Given the description of an element on the screen output the (x, y) to click on. 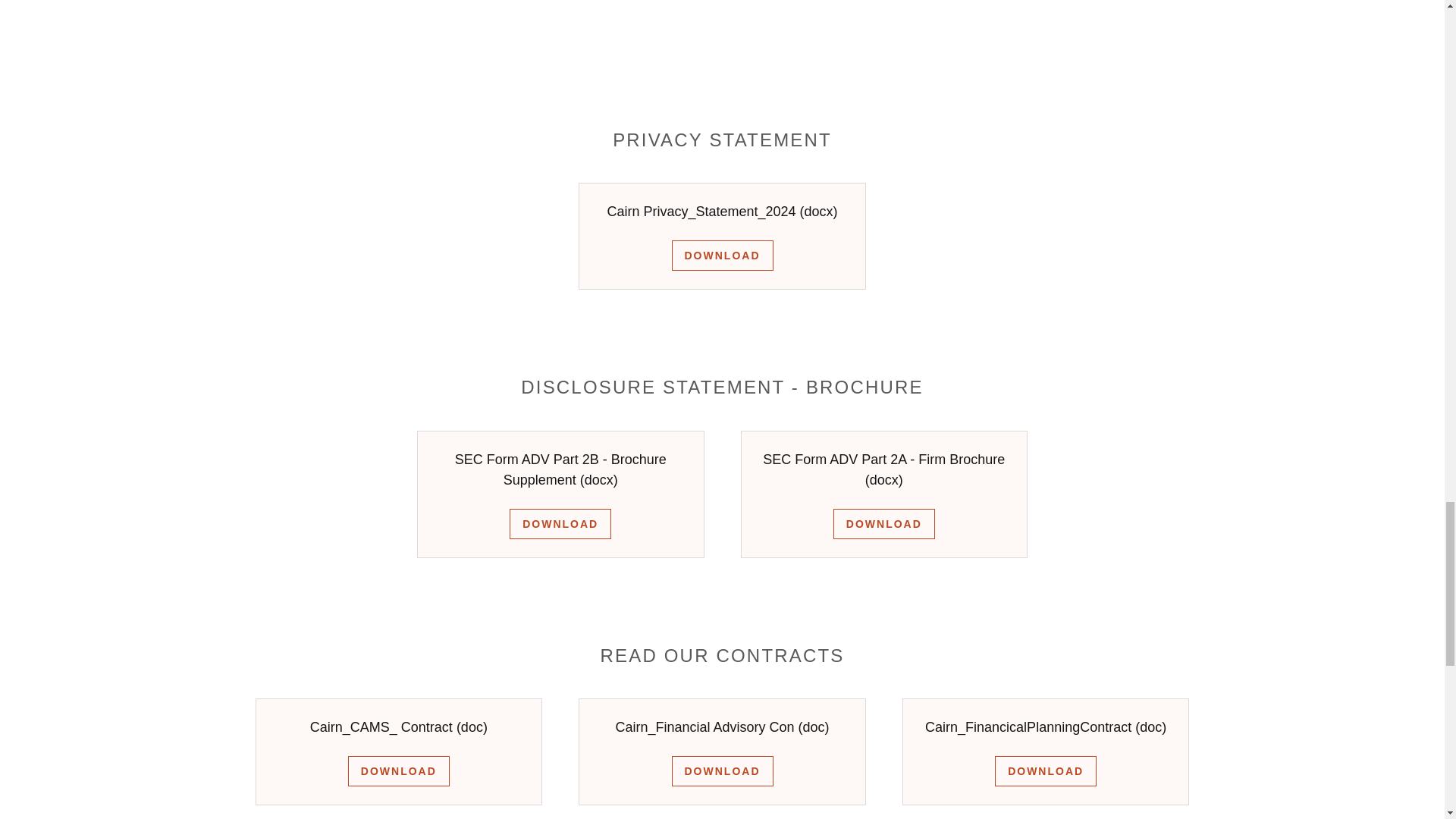
DOWNLOAD (560, 523)
DOWNLOAD (1045, 770)
DOWNLOAD (722, 770)
DOWNLOAD (883, 523)
DOWNLOAD (398, 770)
DOWNLOAD (722, 255)
